Given the description of an element on the screen output the (x, y) to click on. 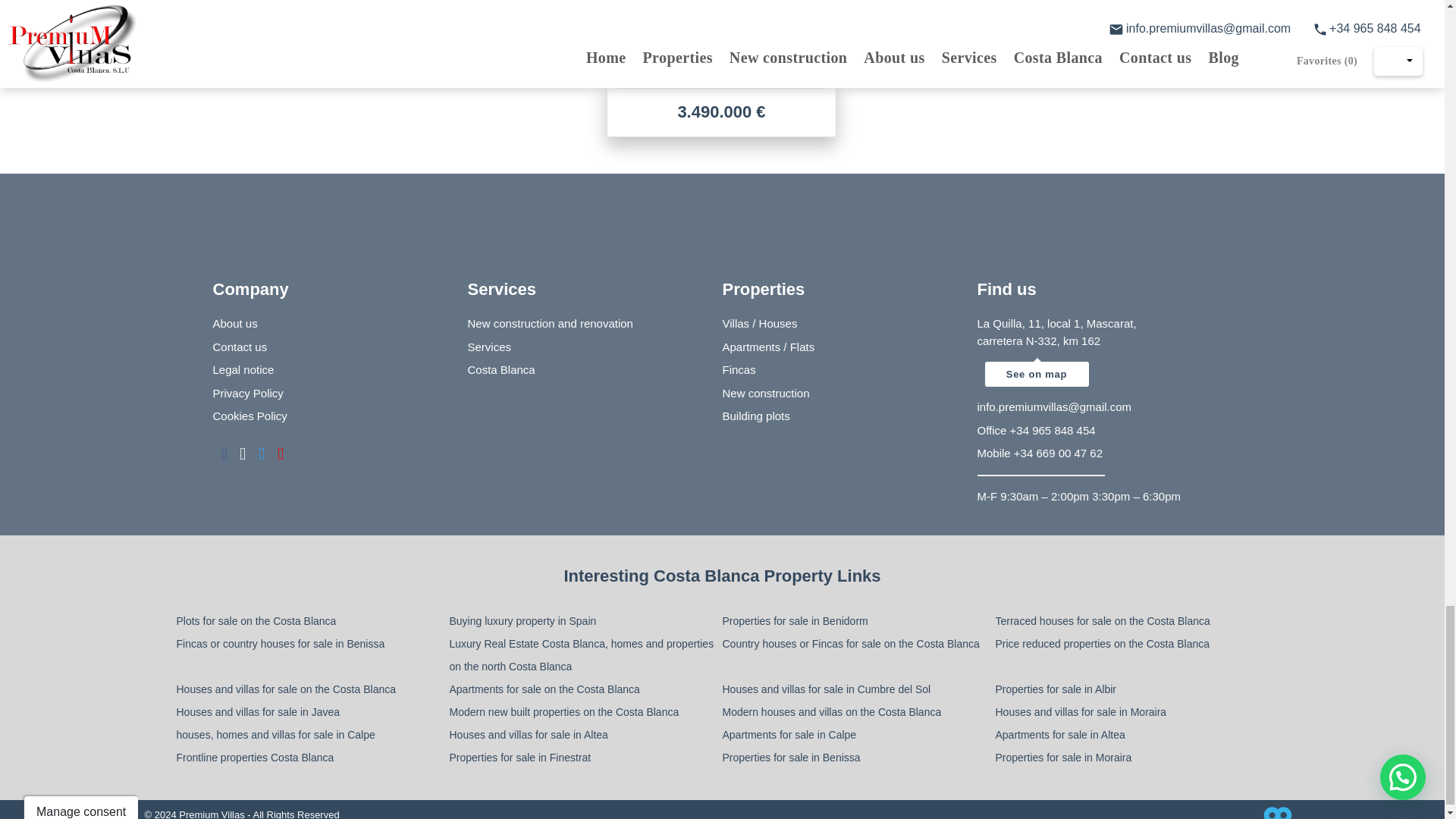
Legal notice (242, 369)
About us (234, 323)
Contact us (239, 346)
Cookies Policy (249, 415)
Privacy Policy (247, 392)
